Given the description of an element on the screen output the (x, y) to click on. 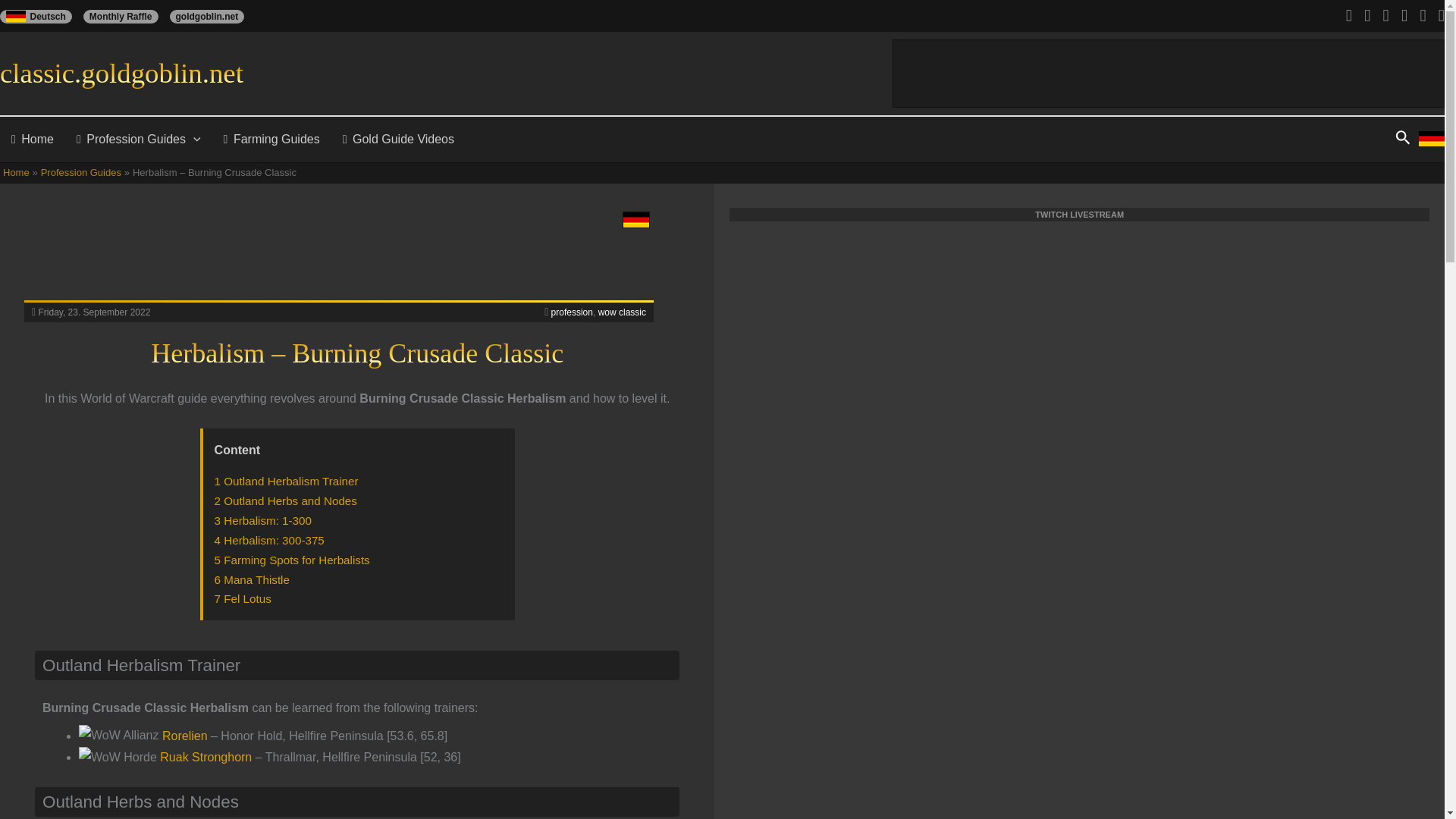
Tags (546, 312)
classic.goldgoblin.net (121, 72)
Goldgoblin auf YouTube (1382, 15)
Goldgoblin Discord (1345, 15)
Deutsch (41, 16)
Profession Guides (138, 139)
Home (32, 139)
goldgoblin.net (213, 16)
Goldgoblin auf Twitch (1363, 15)
Goldgoblin auf Facebook (1400, 15)
Goldgoblin auf Twitter (1418, 15)
Monthly Raffle (126, 16)
